Given the description of an element on the screen output the (x, y) to click on. 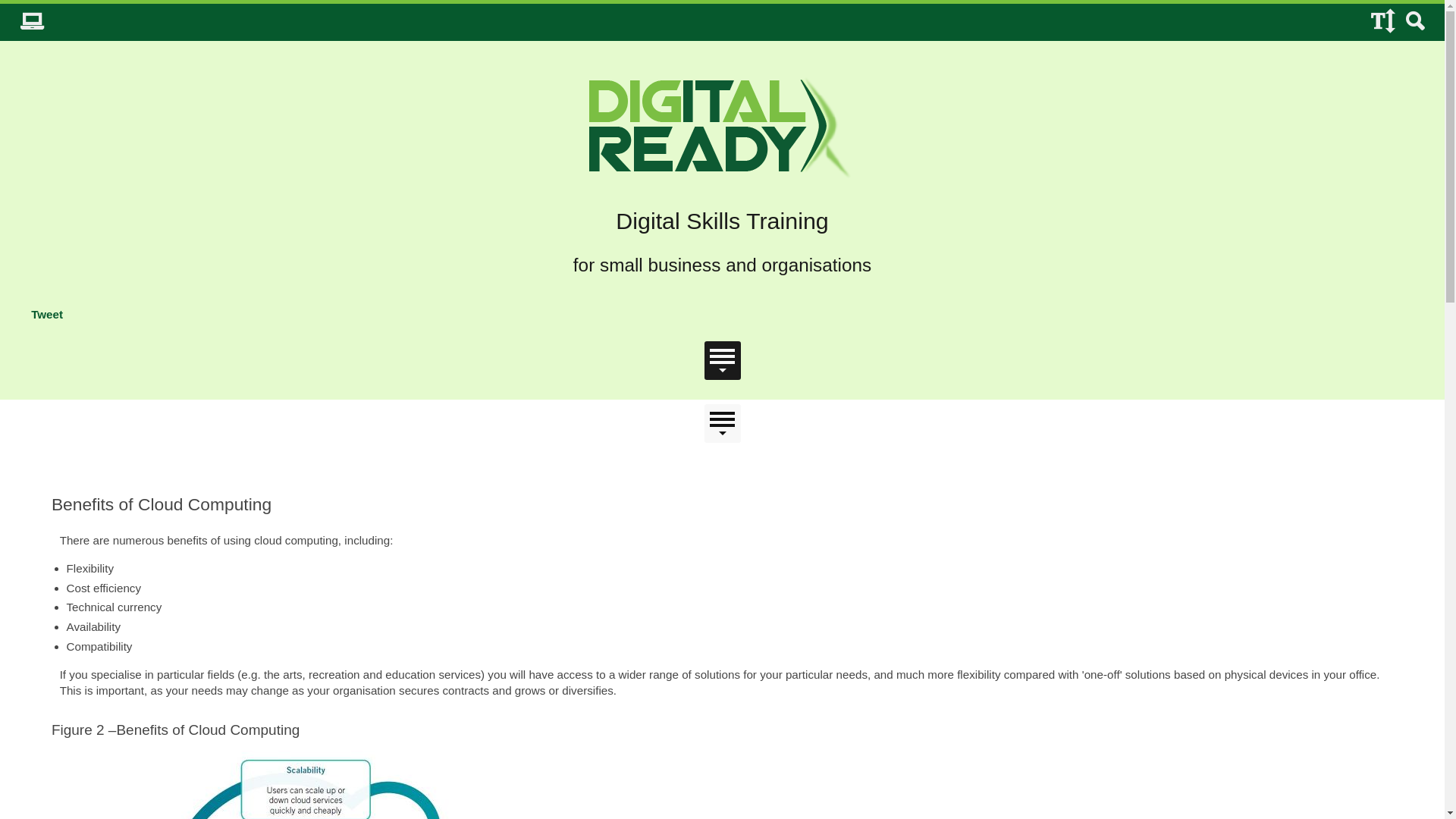
Side menu Element type: text (721, 423)
Main menu Element type: text (721, 360)
Search Element type: text (1414, 21)
Homepage Element type: hover (722, 128)
Tweet Element type: text (46, 313)
Default layout. Switch to the desktop layout Element type: text (31, 21)
Font size: Element type: text (1382, 21)
